Given the description of an element on the screen output the (x, y) to click on. 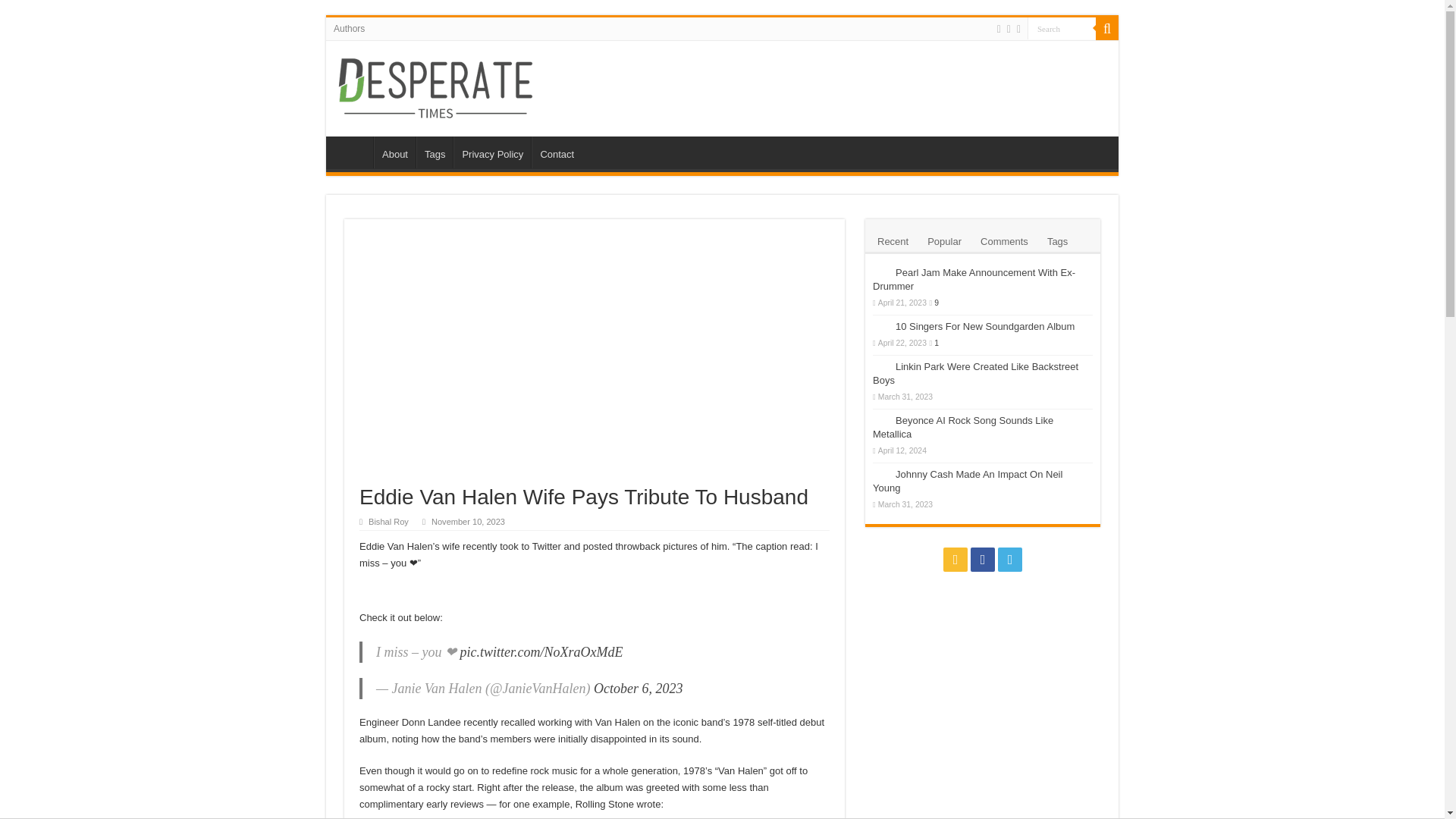
Desperate Times (435, 85)
Search (1061, 28)
Tags (1057, 239)
Contact (555, 152)
Privacy Policy (491, 152)
October 6, 2023 (638, 688)
Authors (349, 28)
Search (1061, 28)
Search (1061, 28)
Recent (892, 239)
